Given the description of an element on the screen output the (x, y) to click on. 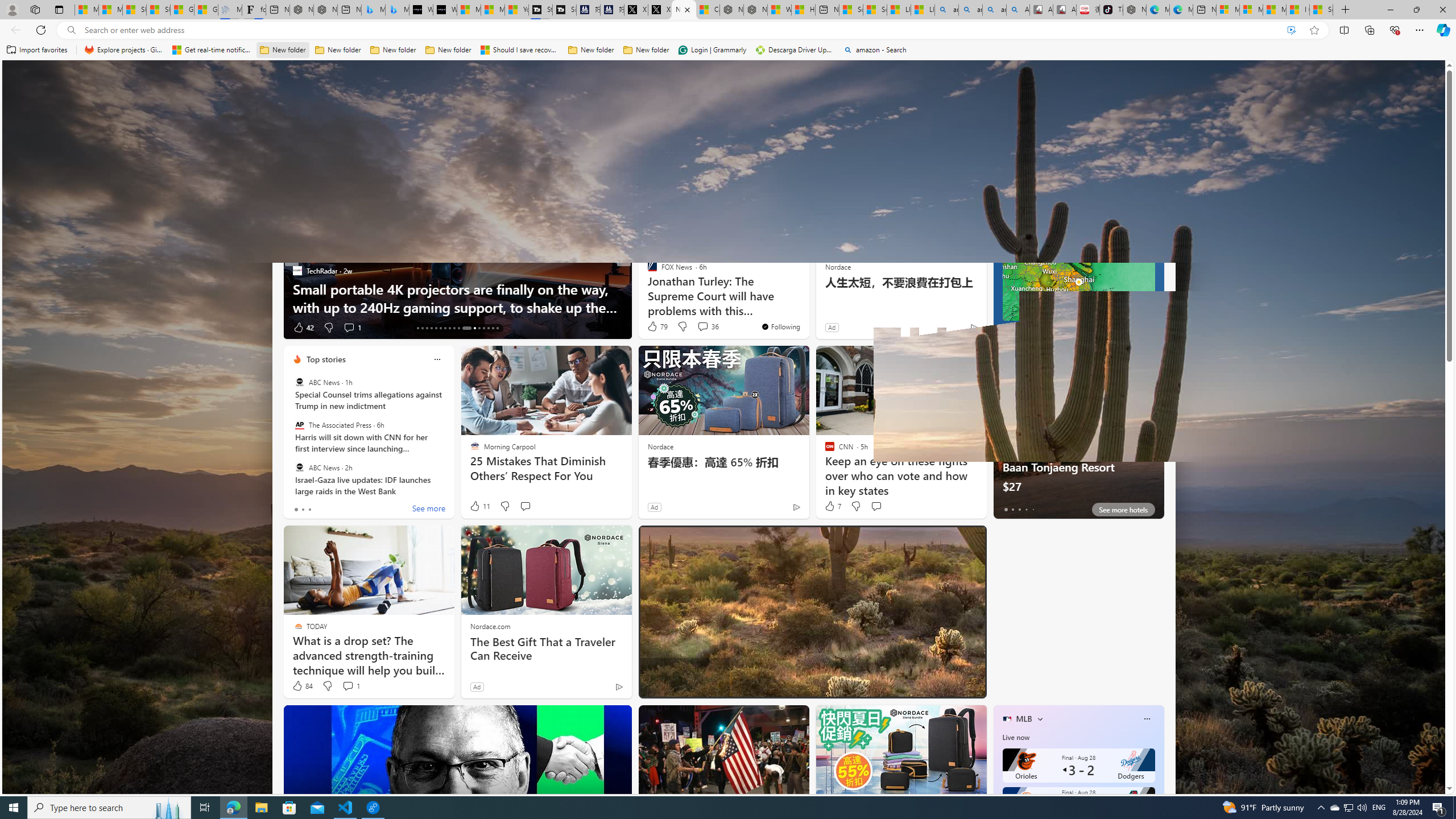
Microsoft rewards (1374, 78)
Split screen (1344, 29)
News (398, 151)
AutomationID: tab-18 (440, 328)
Personal Profile (12, 9)
Class: icon-img (1146, 718)
Following (352, 151)
Microsoft Edge (1043, 538)
Stay protected while you browse with Microsoft Edge (1077, 592)
News (398, 151)
Search icon (70, 29)
AutomationID: tab-19 (444, 328)
The prosecutor populism of Kamala Harris (807, 307)
Weather (579, 151)
